Given the description of an element on the screen output the (x, y) to click on. 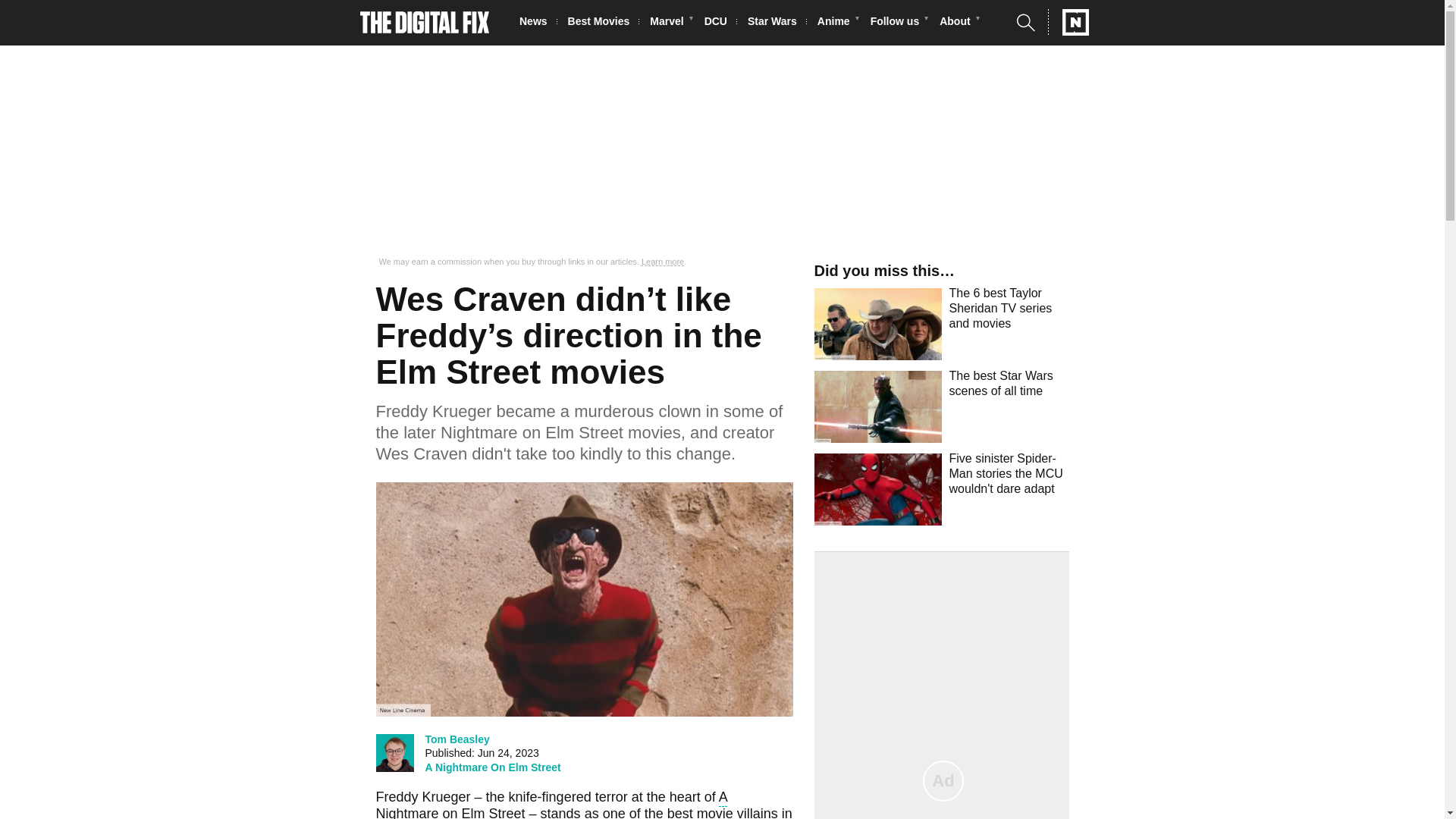
best movie villains (721, 812)
DCU (720, 22)
Network N Media (1068, 22)
DC Comics Universe News (720, 22)
The Digital Fix (424, 22)
Marvel (671, 22)
Star Wars News (777, 22)
Learn more (663, 261)
A Nightmare on Elm Street (551, 804)
Star Wars (777, 22)
News (537, 22)
Follow us (899, 22)
Anime News (837, 22)
Tom Beasley (457, 739)
TV and Movie News (537, 22)
